Given the description of an element on the screen output the (x, y) to click on. 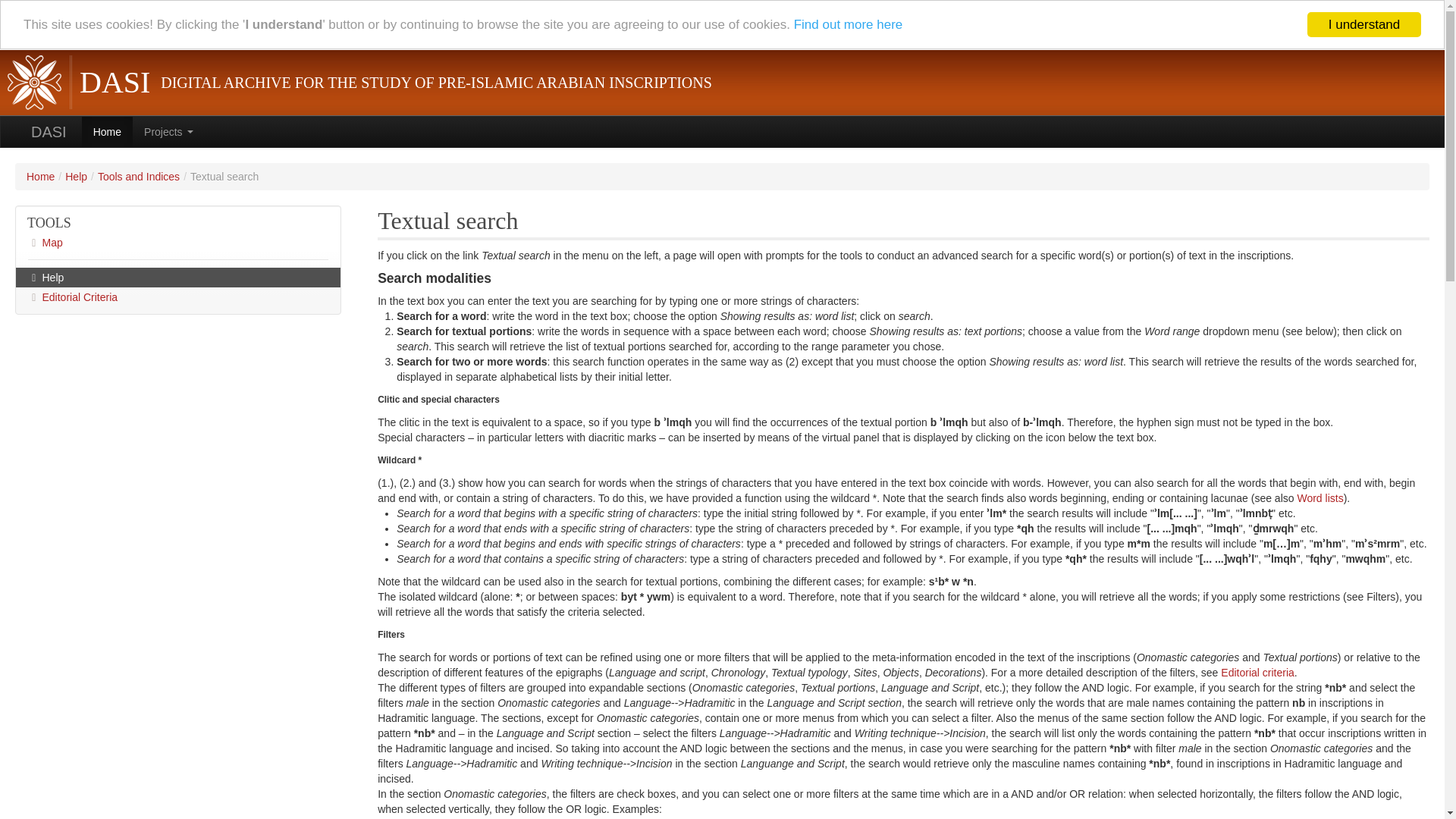
Editorial criteria (1257, 672)
Editorial Criteria (178, 297)
Tools and Indices (138, 176)
Map (178, 242)
Projects (167, 126)
Help (76, 176)
Home (106, 123)
Help (178, 277)
Word lists (1319, 498)
Home (40, 175)
